Given the description of an element on the screen output the (x, y) to click on. 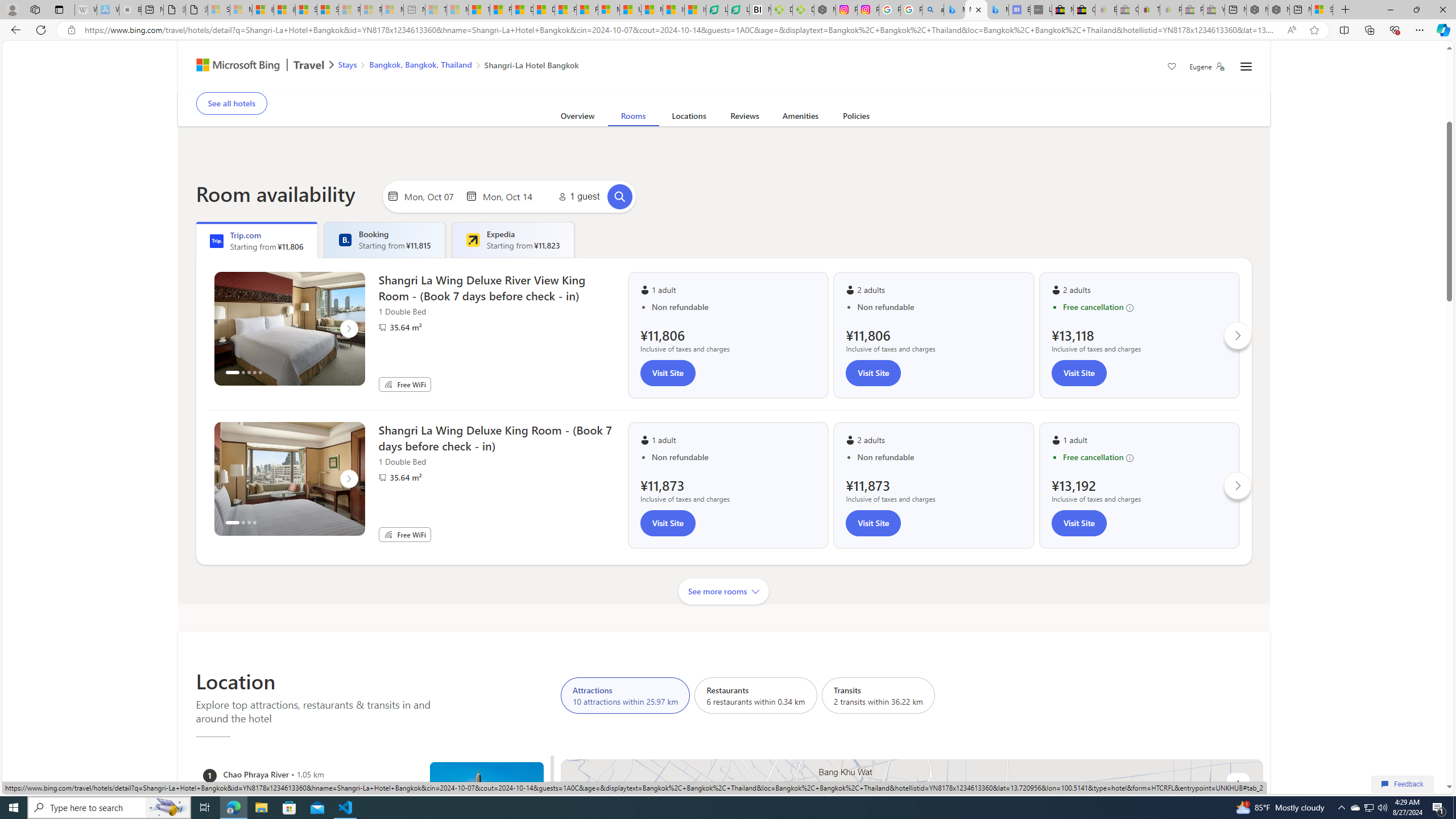
2,234 Booking.com reviews (279, 72)
Marine life - MSN - Sleeping (457, 9)
Yard, Garden & Outdoor Living - Sleeping (1214, 9)
Swimming pool (710, 84)
Save (1171, 67)
alabama high school quarterback dies - Search (933, 9)
Locations (688, 118)
Buy iPad - Apple - Sleeping (130, 9)
Zoom in (1237, 784)
